Given the description of an element on the screen output the (x, y) to click on. 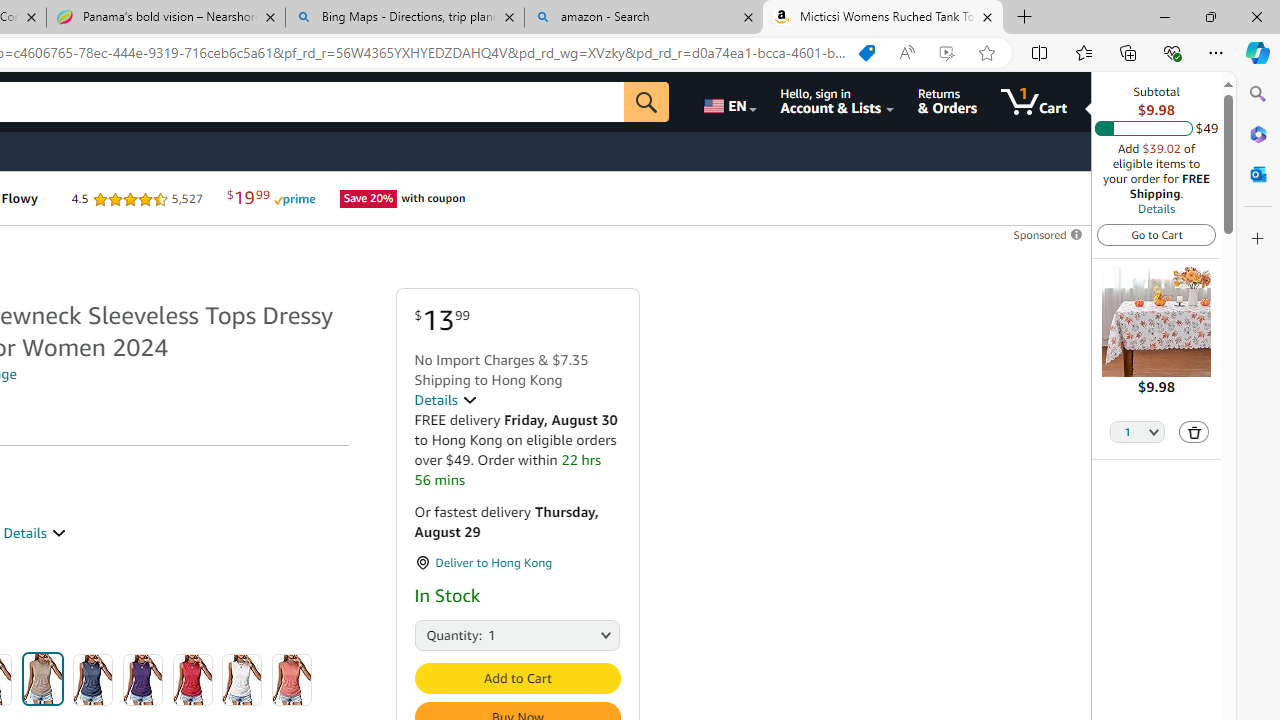
Delete (1194, 431)
Khaki (42, 678)
Navy Blue (93, 679)
Red (192, 679)
Delete (1193, 431)
Pink (292, 679)
Prime (294, 198)
Details (1156, 208)
Add to Cart (516, 677)
